Given the description of an element on the screen output the (x, y) to click on. 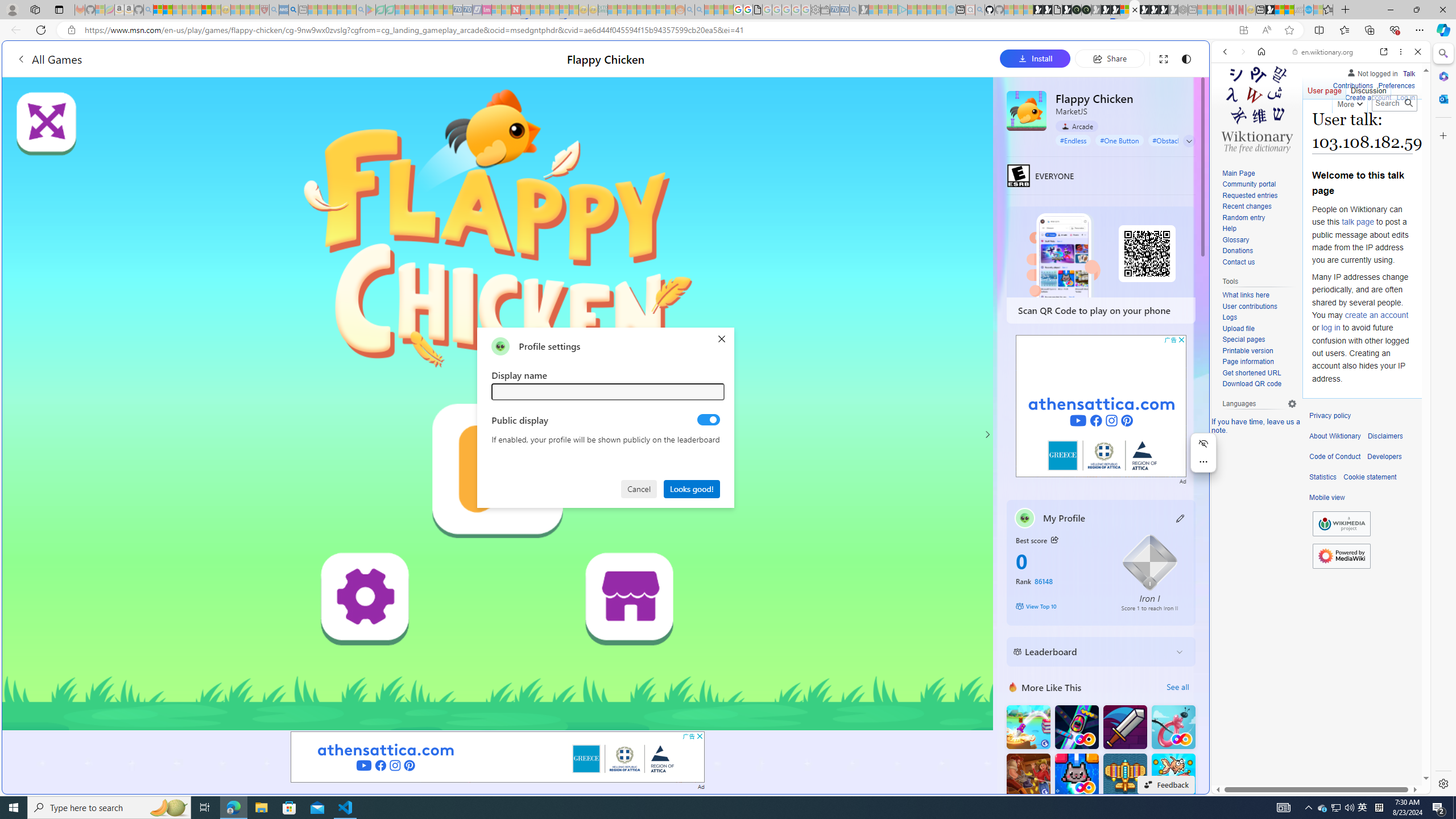
Install (1034, 58)
Help (1259, 229)
Create account (1367, 96)
talk page (1357, 221)
Expert Portfolios - Sleeping (640, 9)
